Given the description of an element on the screen output the (x, y) to click on. 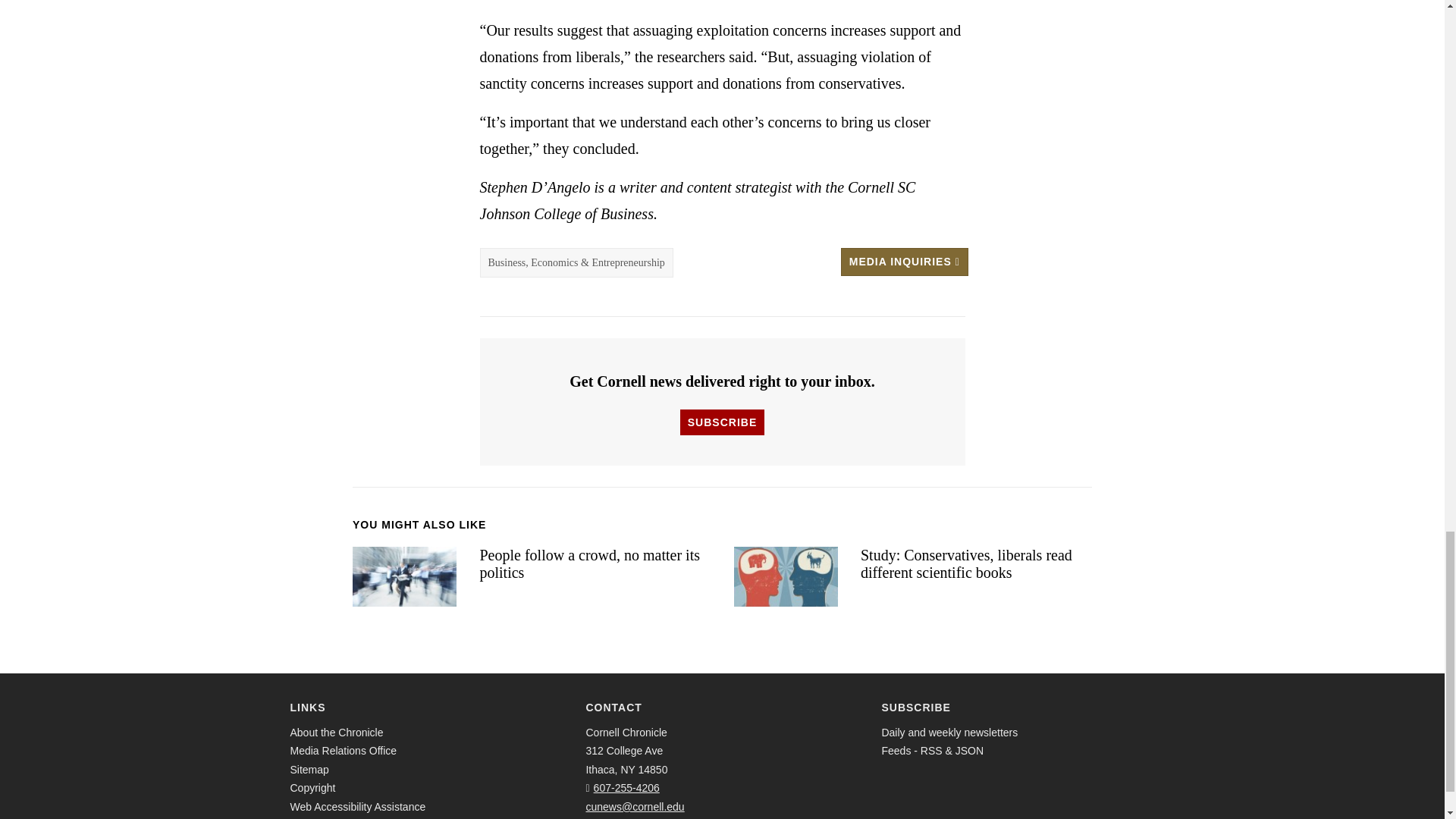
People follow a crowd, no matter its politics (404, 576)
